Given the description of an element on the screen output the (x, y) to click on. 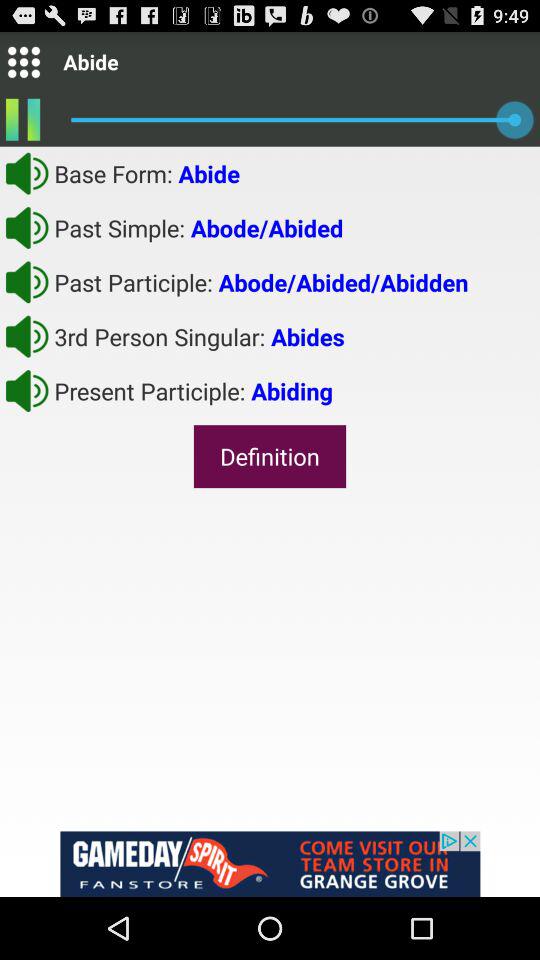
play button (27, 173)
